Given the description of an element on the screen output the (x, y) to click on. 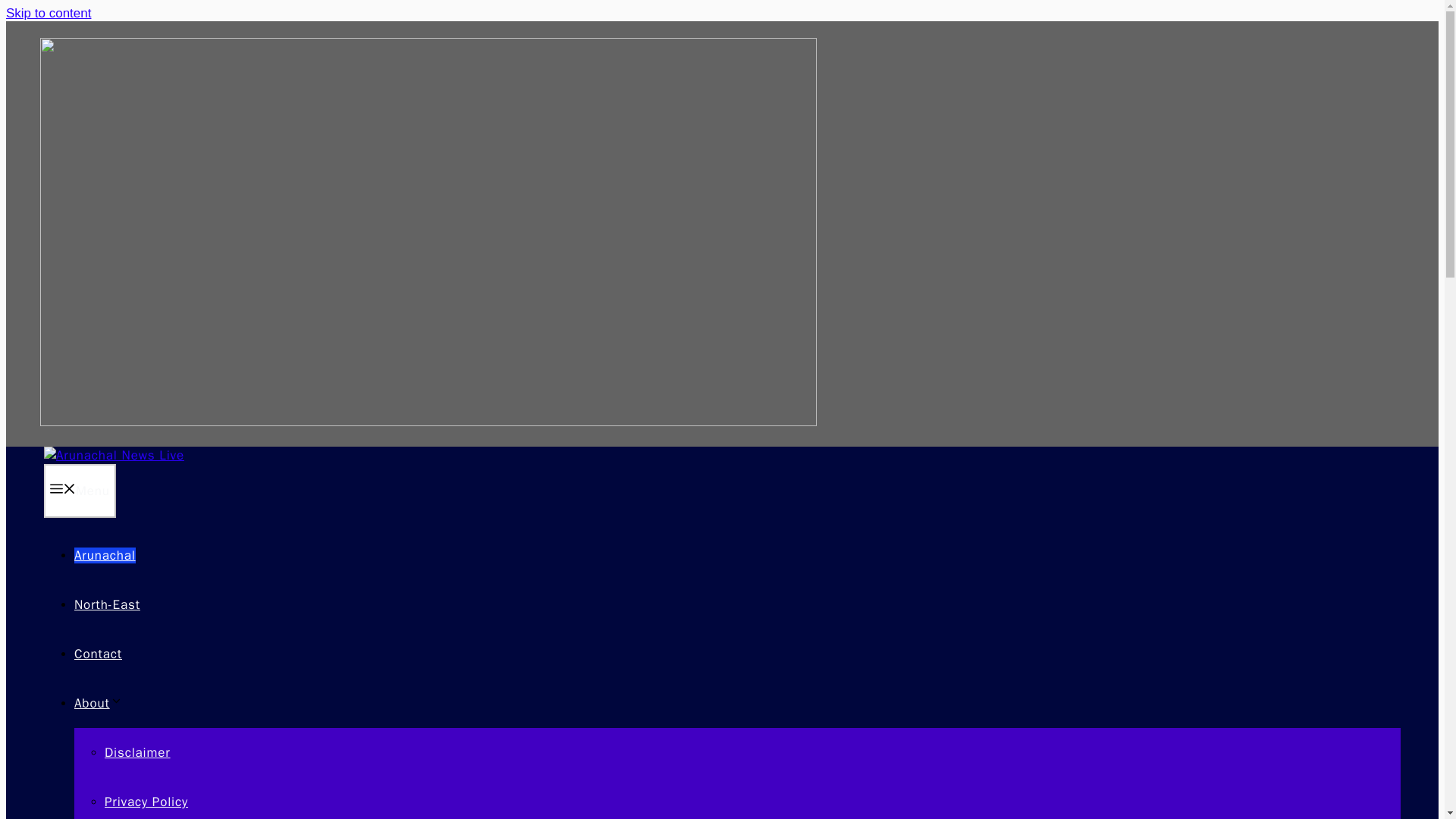
Arunachal (104, 555)
North-East (106, 604)
About (98, 703)
Contact (98, 653)
Arunachal News Live (113, 455)
Skip to content (47, 12)
Skip to content (47, 12)
Disclaimer (137, 752)
Privacy Policy (145, 801)
Menu (79, 490)
